Given the description of an element on the screen output the (x, y) to click on. 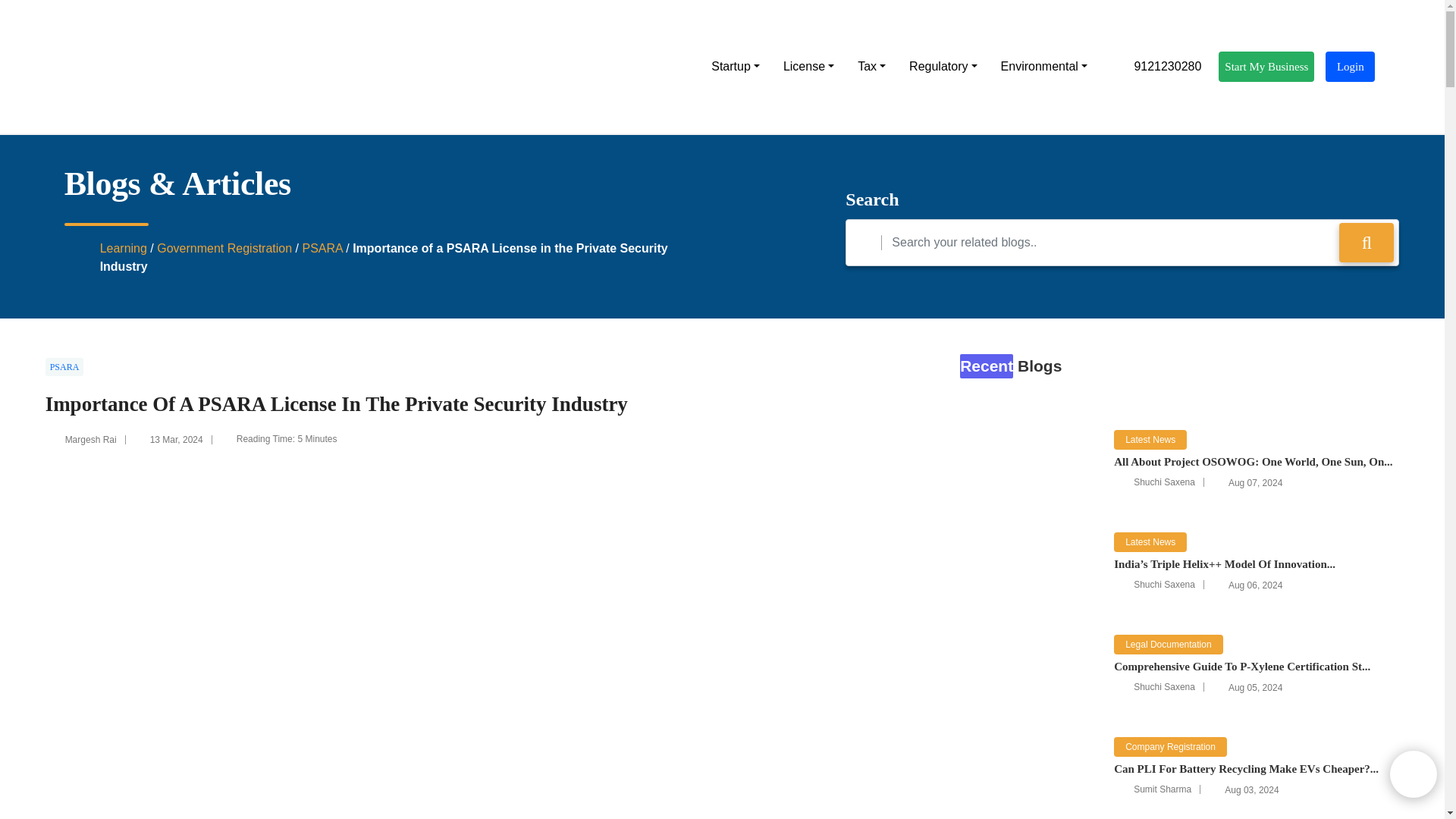
Posts by Margesh Rai (90, 439)
Startup (734, 66)
